Given the description of an element on the screen output the (x, y) to click on. 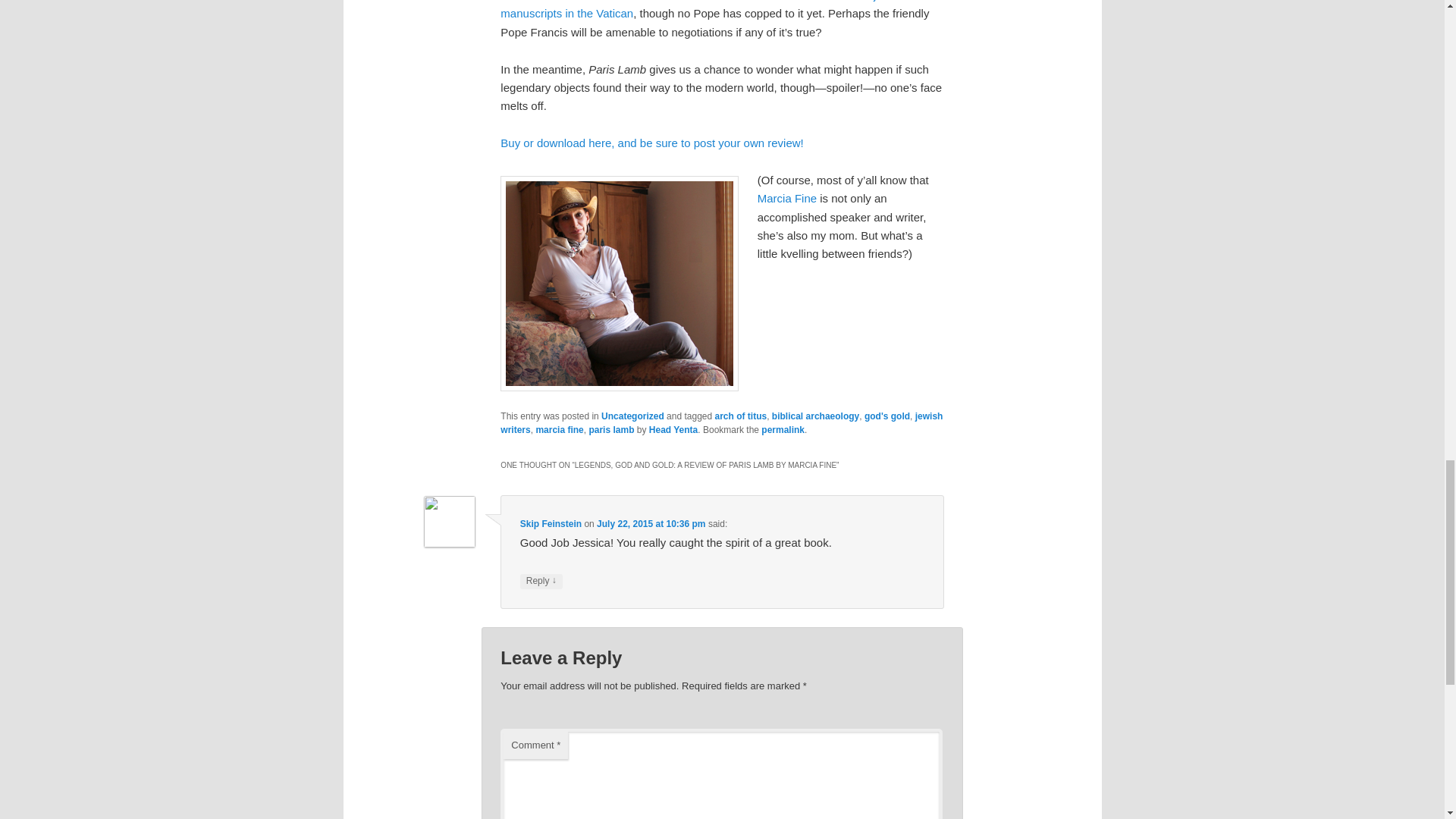
Head Yenta (673, 429)
marcia fine (559, 429)
arch of titus (740, 416)
biblical archaeology (815, 416)
Buy or download here, and be sure to post your own review! (651, 142)
permalink (783, 429)
Skip Feinstein (549, 523)
jewish writers (721, 422)
Uncategorized (632, 416)
paris lamb (610, 429)
god's gold (887, 416)
July 22, 2015 at 10:36 pm (650, 523)
Marcia Fine (789, 197)
